Given the description of an element on the screen output the (x, y) to click on. 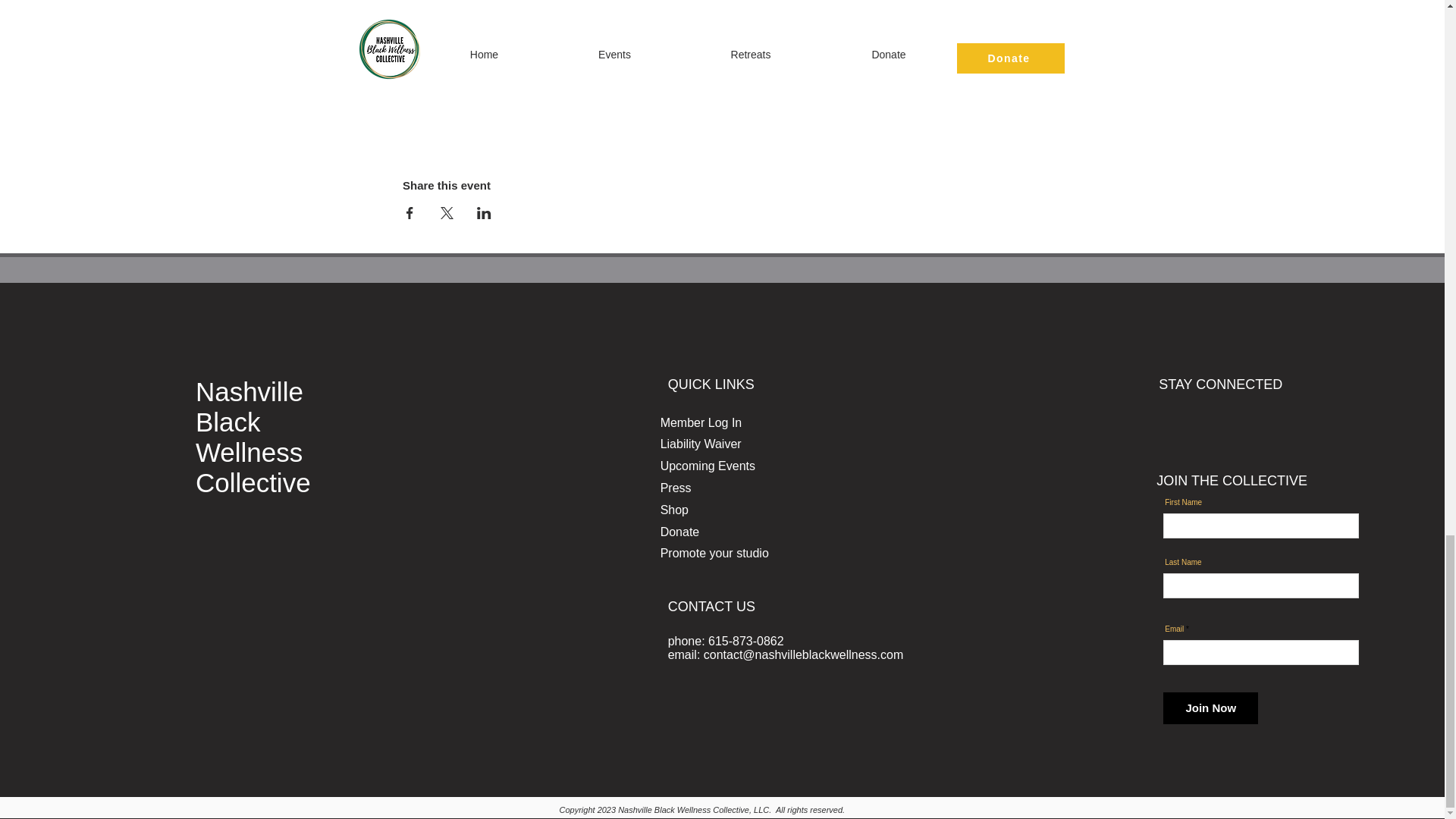
Shop (674, 509)
Liability Waiver (701, 443)
Press (676, 487)
Member Log In (701, 422)
Donate (680, 531)
Upcoming Events (708, 465)
Join Now (1210, 707)
Promote your studio (714, 553)
